Given the description of an element on the screen output the (x, y) to click on. 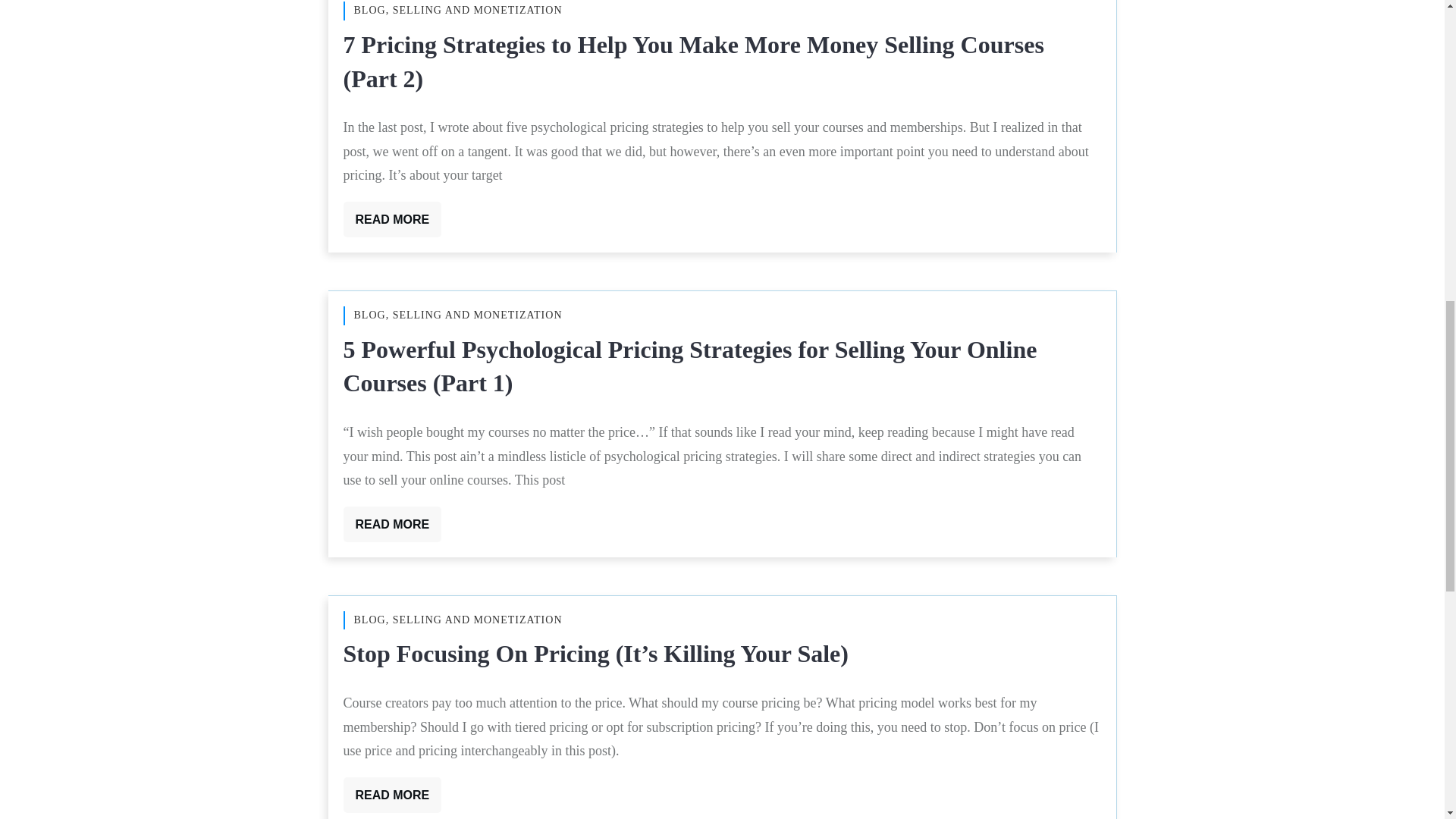
Blog (369, 9)
SELLING AND MONETIZATION (477, 9)
SELLING AND MONETIZATION (477, 315)
READ MORE (391, 524)
READ MORE (391, 219)
Selling and Monetization (477, 9)
Selling and Monetization (477, 619)
BLOG (369, 315)
SELLING AND MONETIZATION (477, 619)
BLOG (369, 619)
Selling and Monetization (477, 315)
Blog (369, 315)
Blog (369, 619)
READ MORE (391, 795)
BLOG (369, 9)
